Given the description of an element on the screen output the (x, y) to click on. 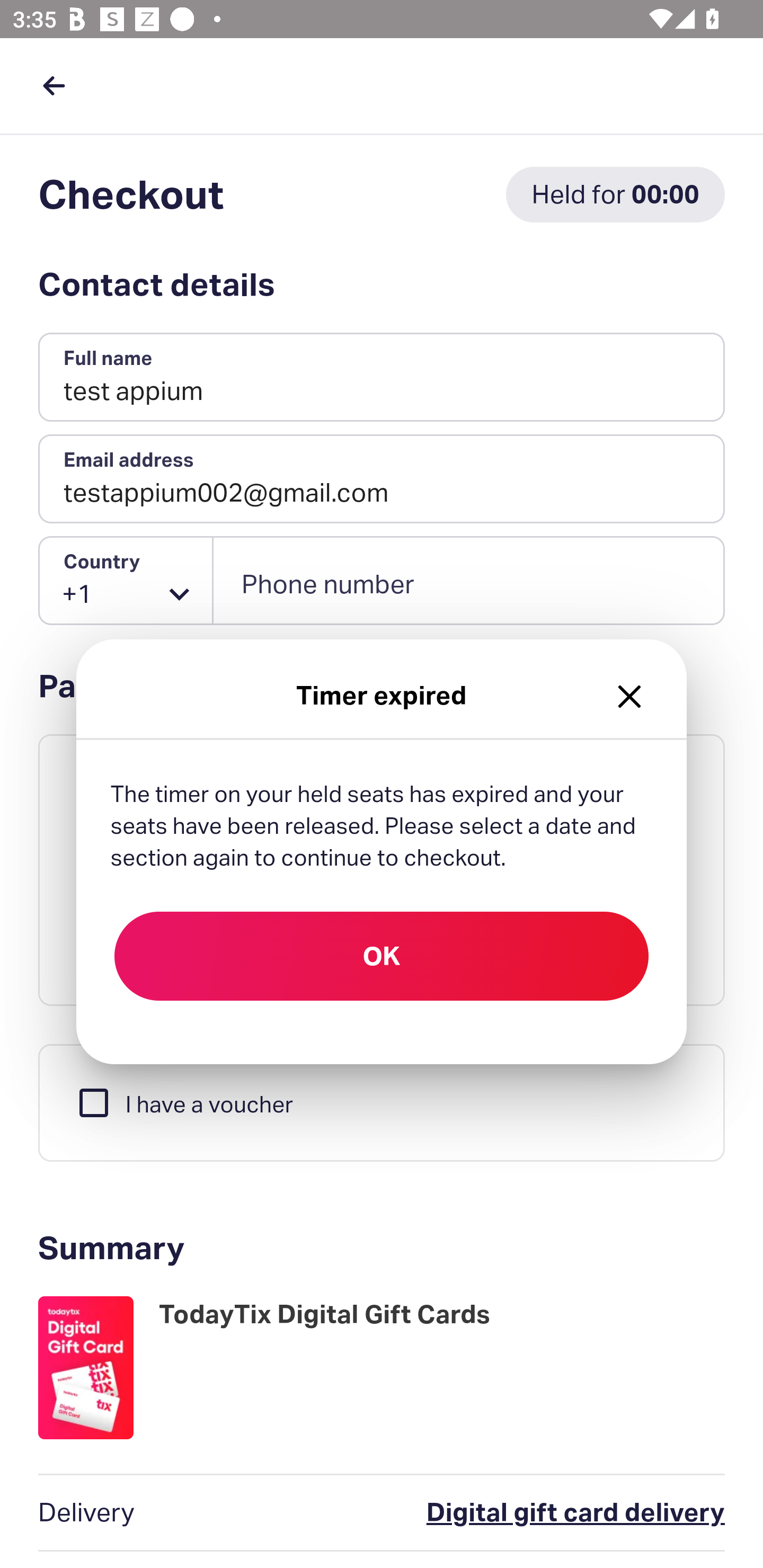
back button (53, 85)
OK (381, 956)
